Given the description of an element on the screen output the (x, y) to click on. 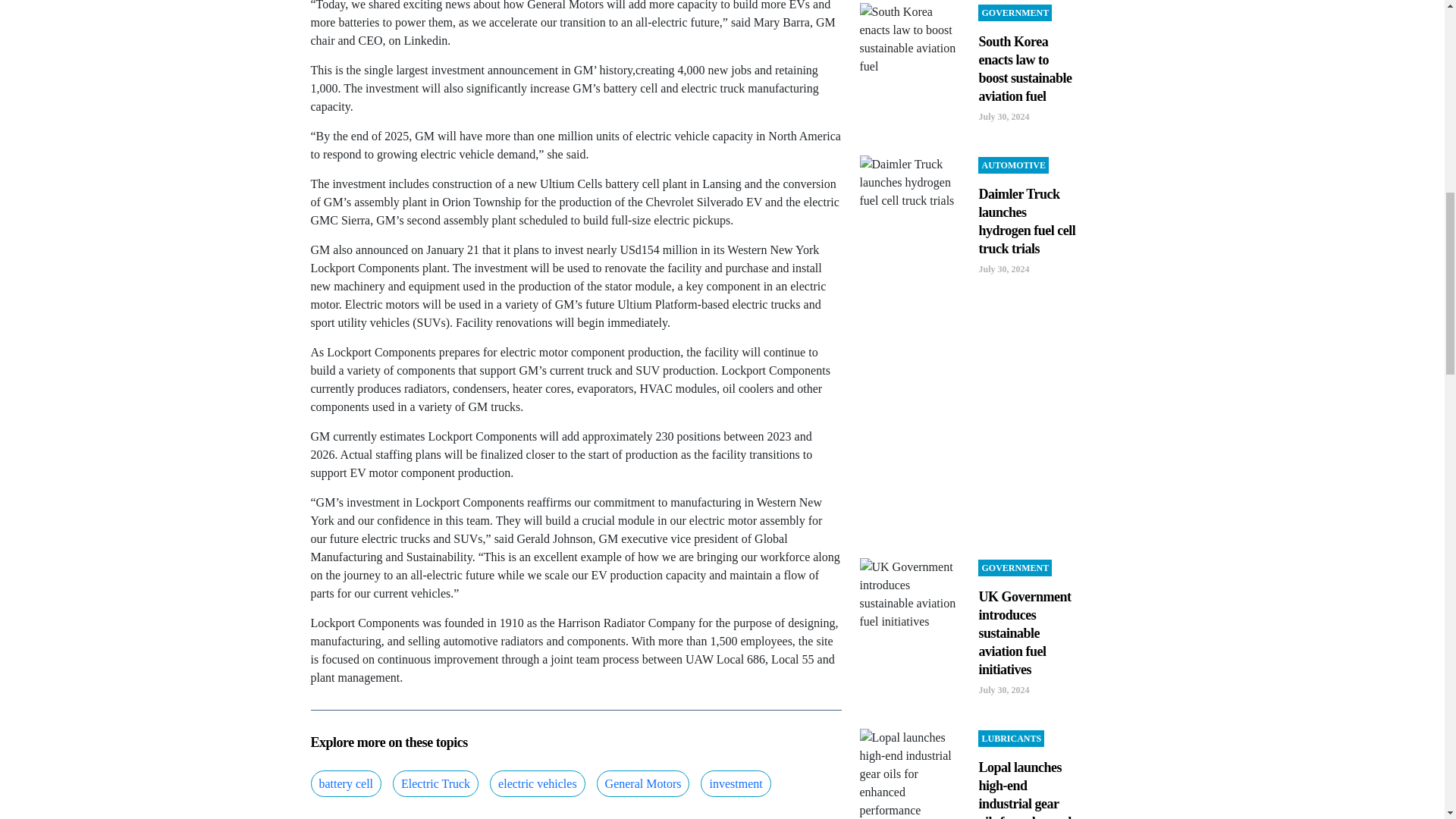
battery cell (346, 783)
Electric Truck (436, 783)
General Motors (643, 783)
electric vehicles (537, 783)
investment (735, 783)
